Given the description of an element on the screen output the (x, y) to click on. 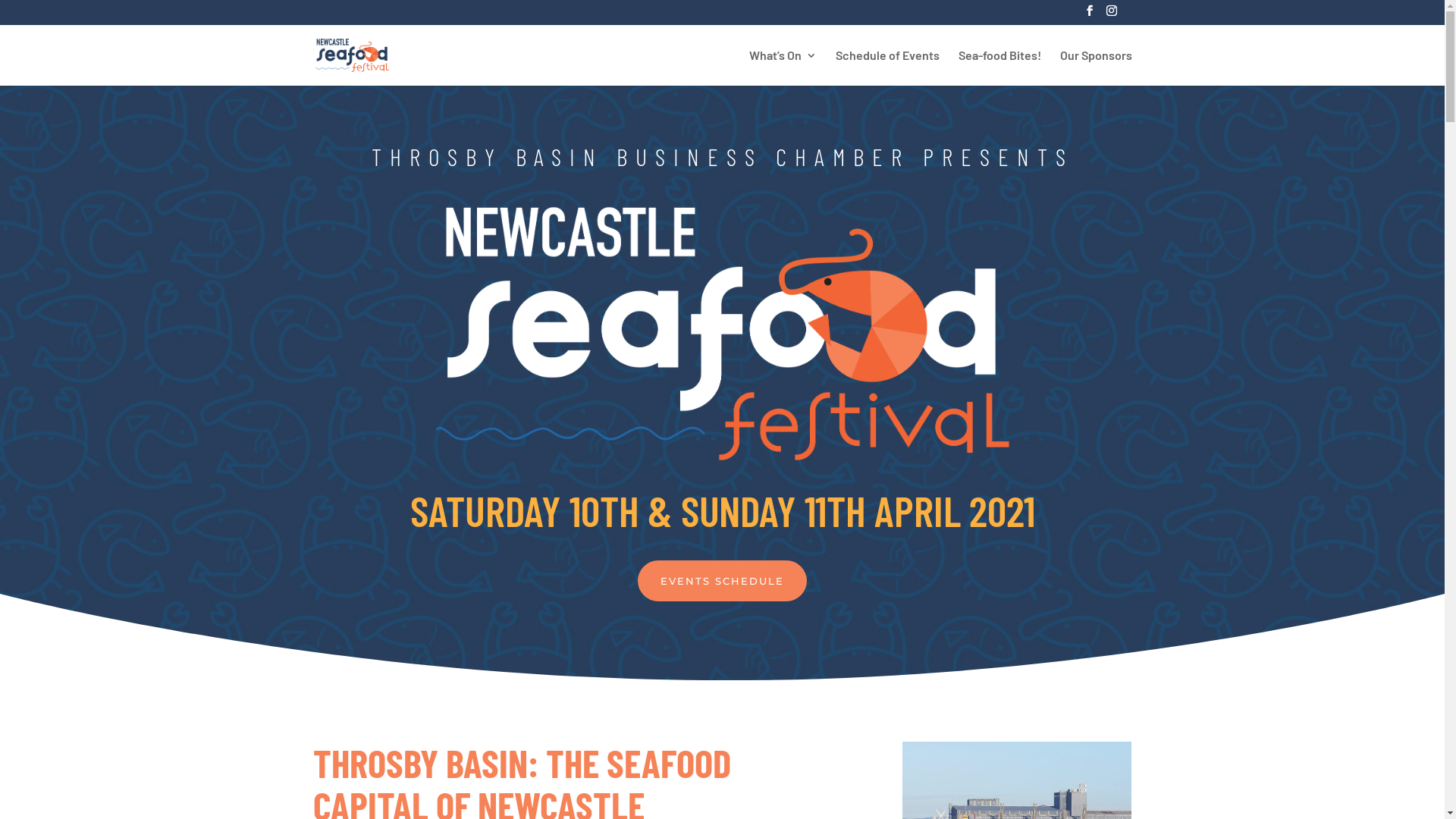
EVENTS SCHEDULE Element type: text (721, 580)
Schedule of Events Element type: text (887, 67)
Sea-food Bites! Element type: text (999, 67)
nsf-logo-rev-large Element type: hover (721, 334)
Our Sponsors Element type: text (1096, 67)
